Given the description of an element on the screen output the (x, y) to click on. 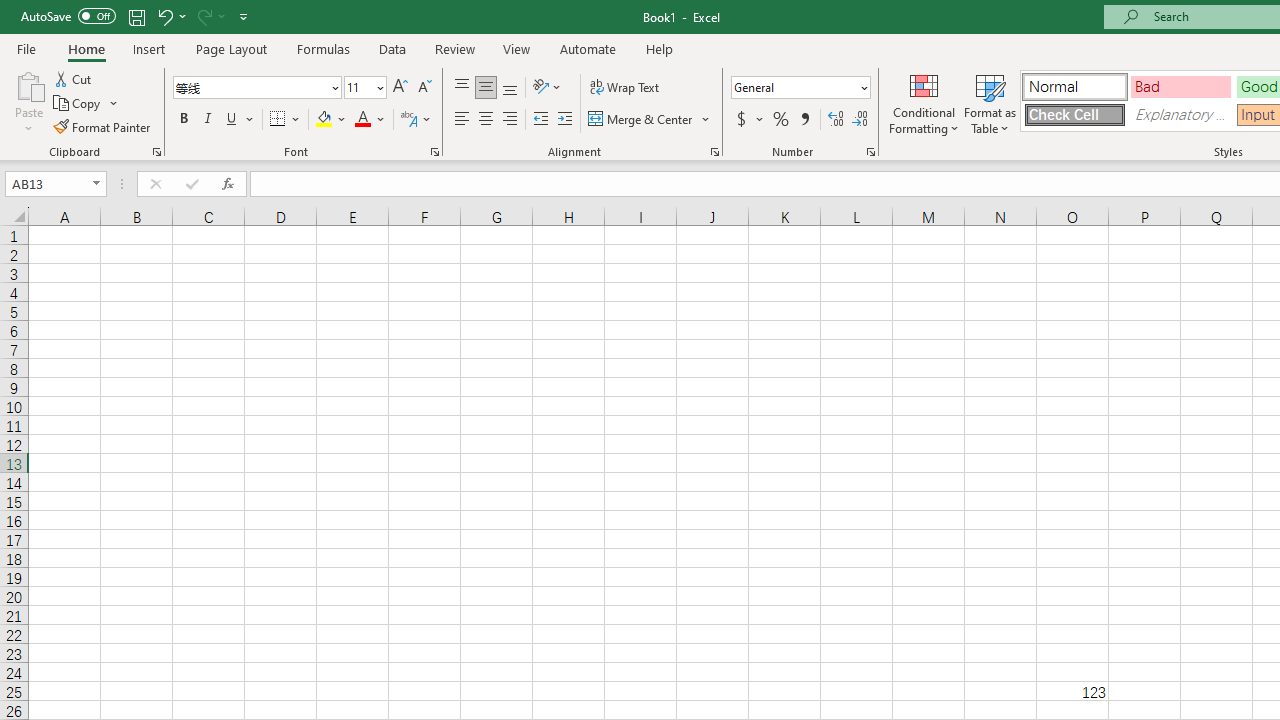
Number Format (800, 87)
Font (250, 87)
View (517, 48)
Data (392, 48)
Quick Access Toolbar (136, 16)
Copy (78, 103)
Paste (28, 84)
Save (136, 15)
Percent Style (781, 119)
Wrap Text (624, 87)
Bad (1180, 86)
Format Painter (103, 126)
Orientation (547, 87)
